Given the description of an element on the screen output the (x, y) to click on. 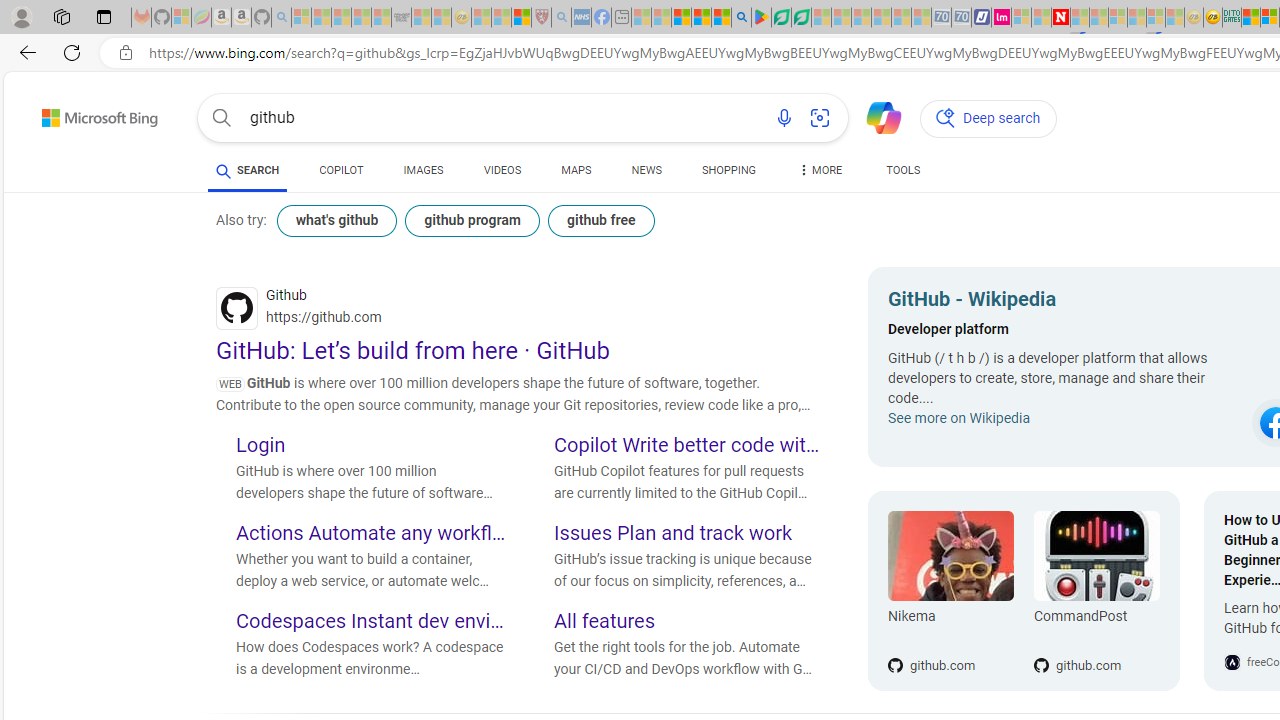
Robert H. Shmerling, MD - Harvard Health - Sleeping (541, 17)
Issues Plan and track work (689, 534)
MORE (819, 173)
GitHub - Wikipedia (1064, 302)
14 Common Myths Debunked By Scientific Facts - Sleeping (1099, 17)
Combat Siege (400, 17)
MSNBC - MSN - Sleeping (641, 17)
CommandPost CommandPost github.com (1086, 591)
Back to Bing search (87, 113)
Latest Politics News & Archive | Newsweek.com (1061, 17)
